Given the description of an element on the screen output the (x, y) to click on. 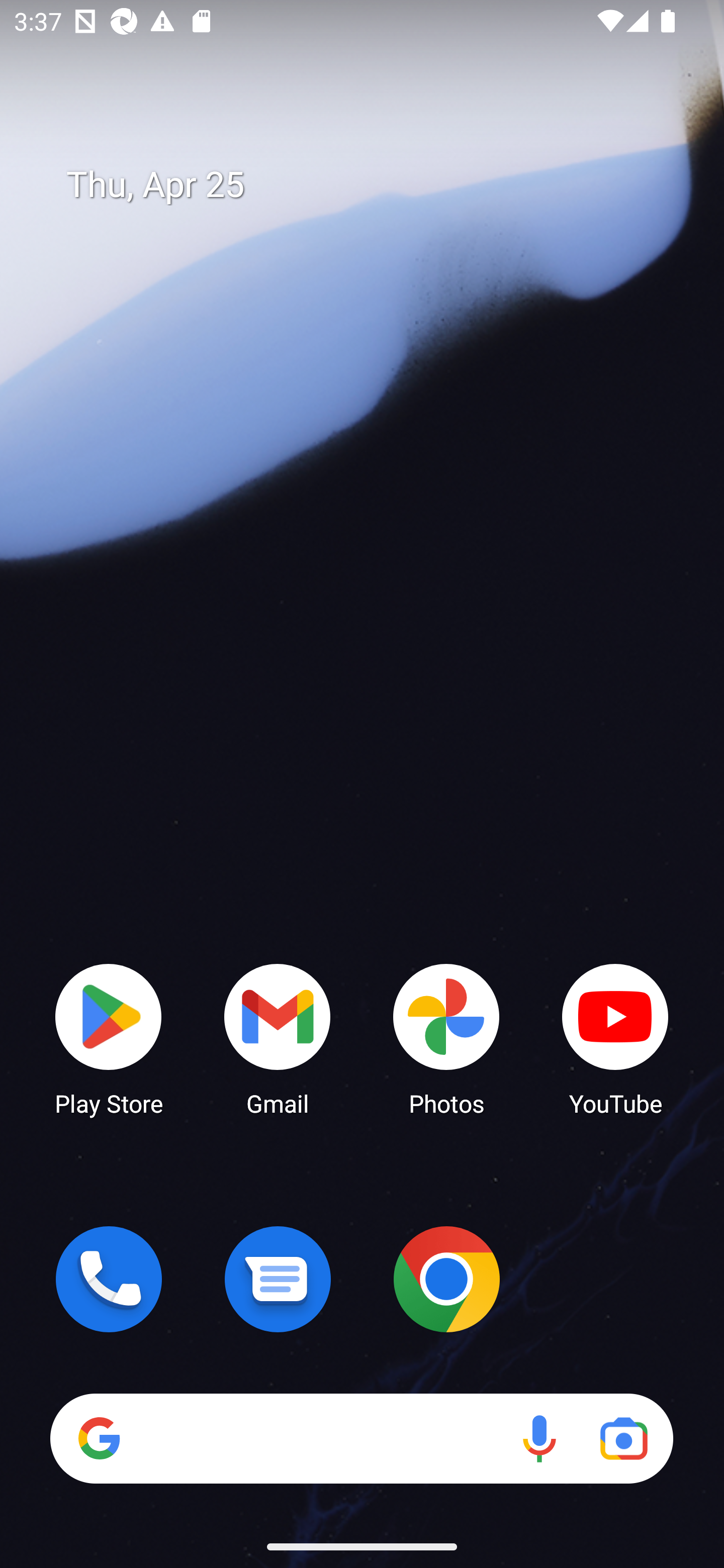
Thu, Apr 25 (375, 184)
Play Store (108, 1038)
Gmail (277, 1038)
Photos (445, 1038)
YouTube (615, 1038)
Phone (108, 1279)
Messages (277, 1279)
Chrome (446, 1279)
Search Voice search Google Lens (361, 1438)
Voice search (539, 1438)
Google Lens (623, 1438)
